Given the description of an element on the screen output the (x, y) to click on. 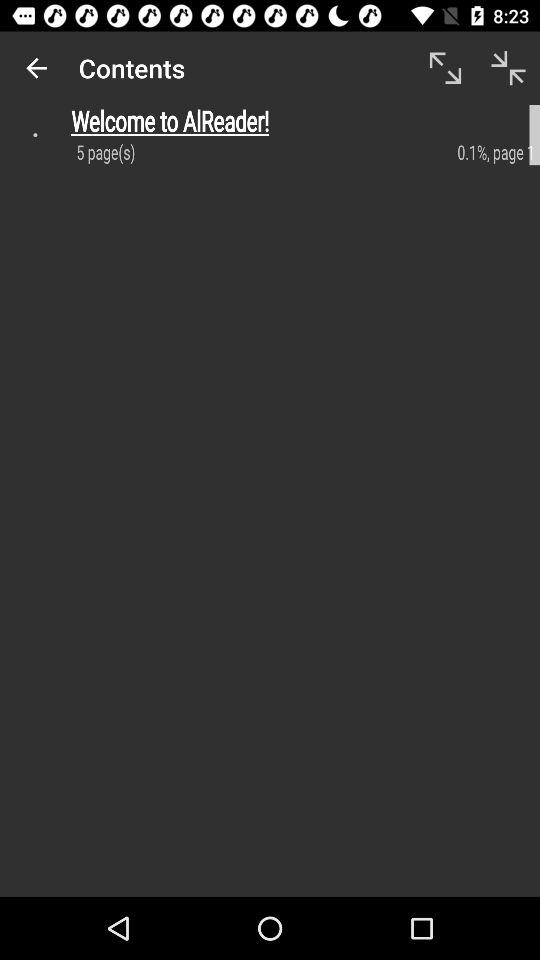
turn on item next to contents app (444, 67)
